Given the description of an element on the screen output the (x, y) to click on. 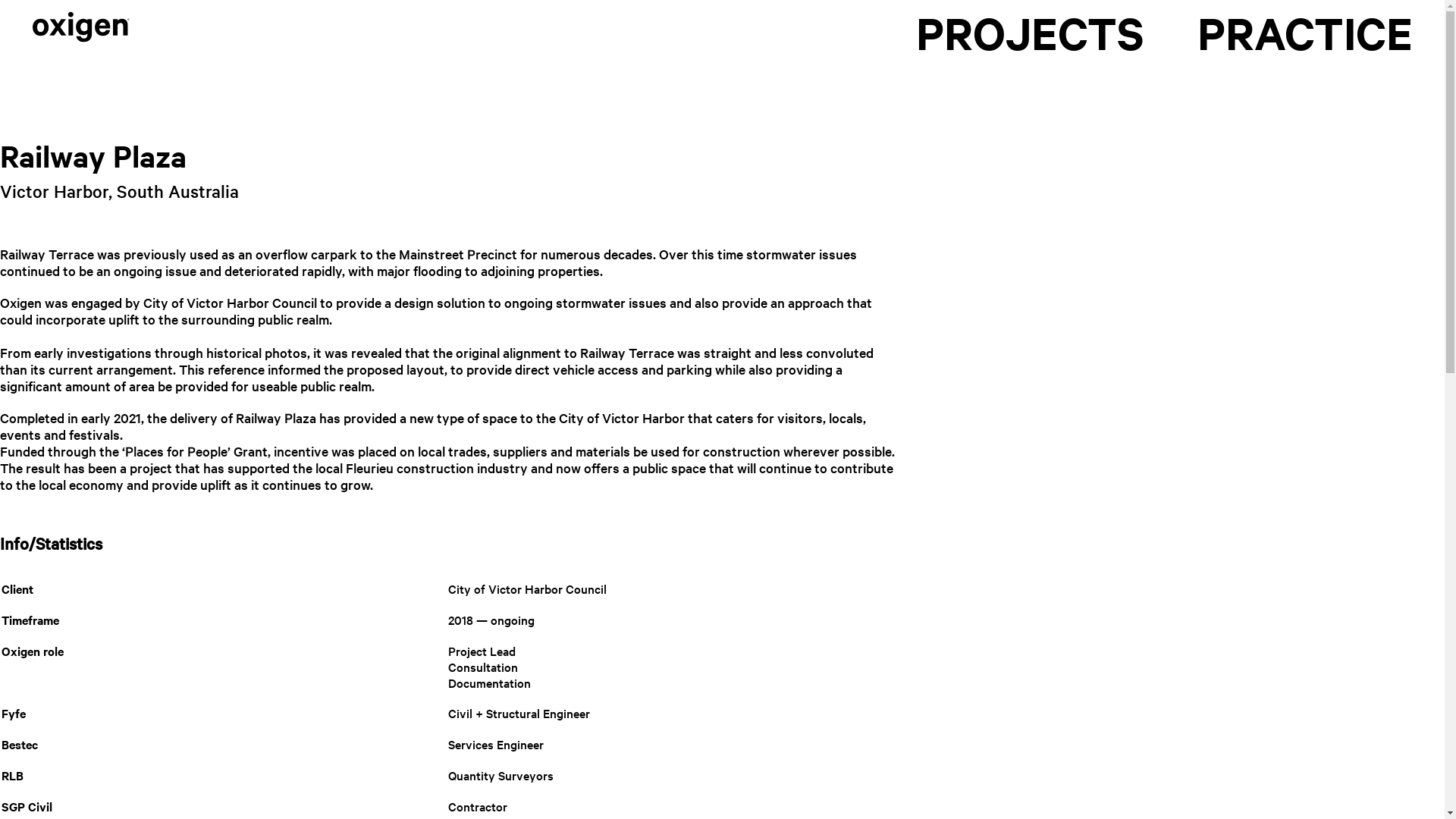
PRACTICE Element type: text (1304, 32)
PROJECTS Element type: text (1030, 32)
